Given the description of an element on the screen output the (x, y) to click on. 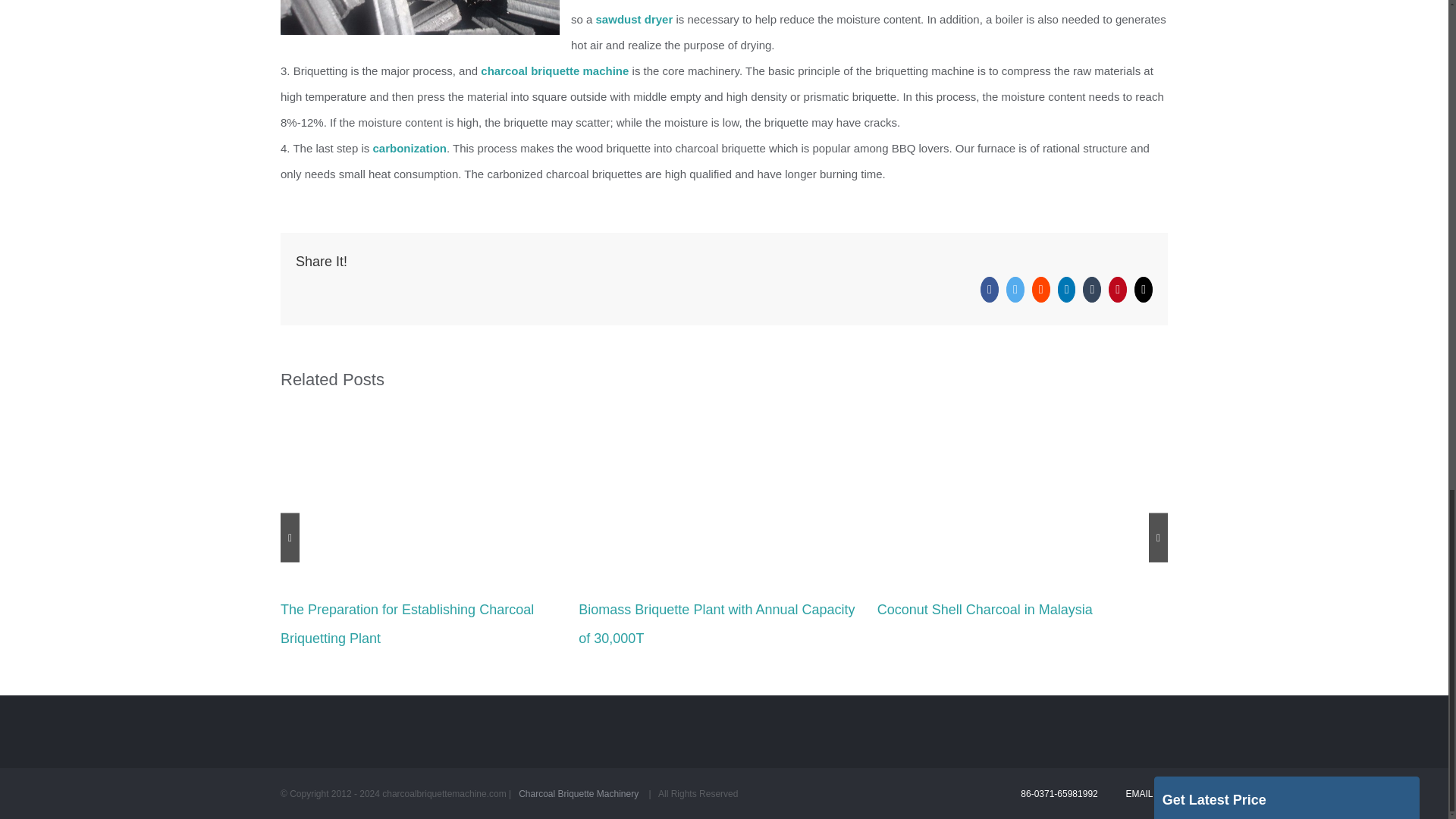
Coconut Shell Charcoal in Malaysia (985, 609)
The Preparation for Establishing Charcoal Briquetting Plant (407, 623)
Biomass Briquette Plant with Annual Capacity of 30,000T (716, 623)
